Given the description of an element on the screen output the (x, y) to click on. 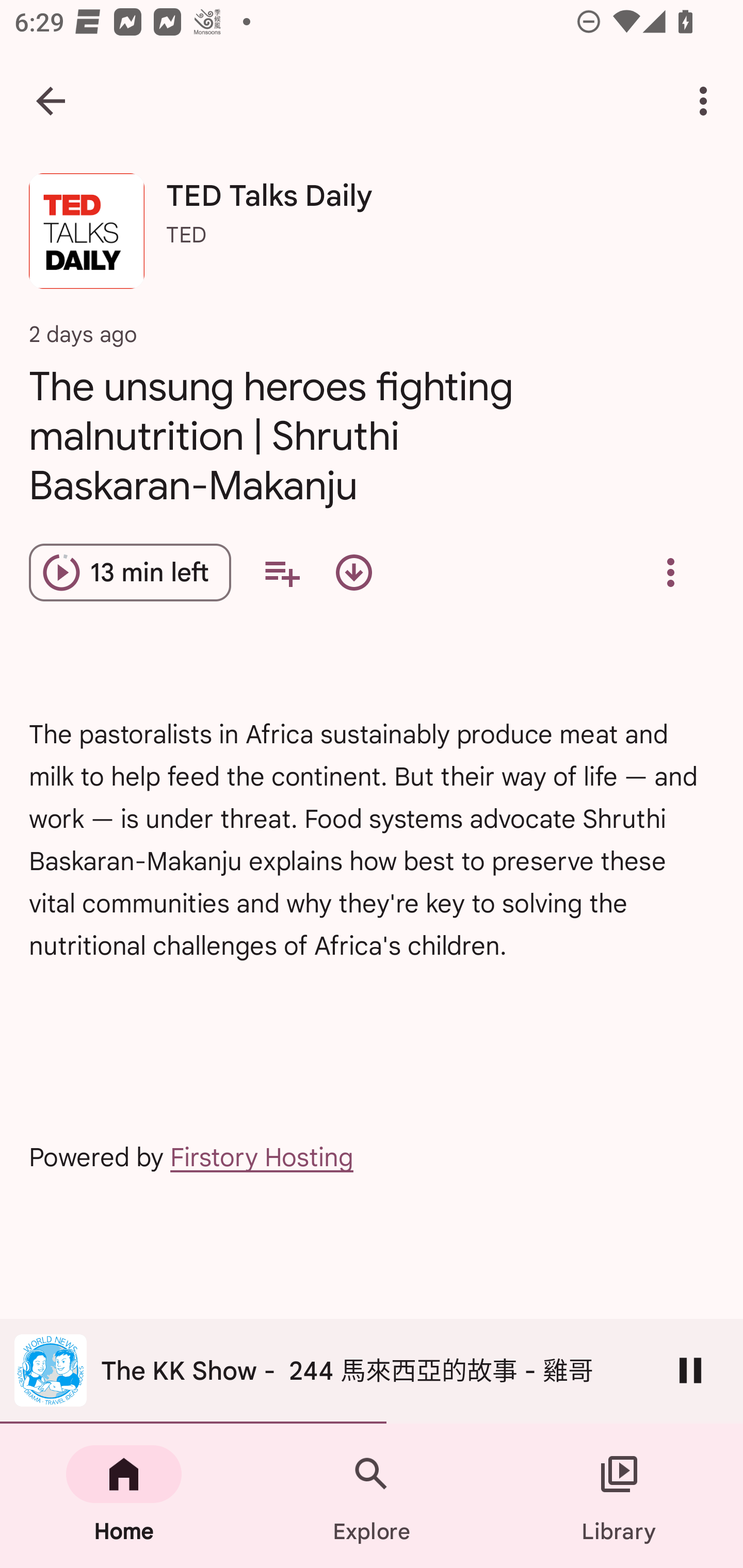
Navigate up (50, 101)
More options (706, 101)
TED Talks Daily TED Talks Daily TED (371, 238)
Add to your queue (281, 572)
Download episode (354, 572)
Overflow menu (670, 572)
Pause (690, 1370)
Explore (371, 1495)
Library (619, 1495)
